Given the description of an element on the screen output the (x, y) to click on. 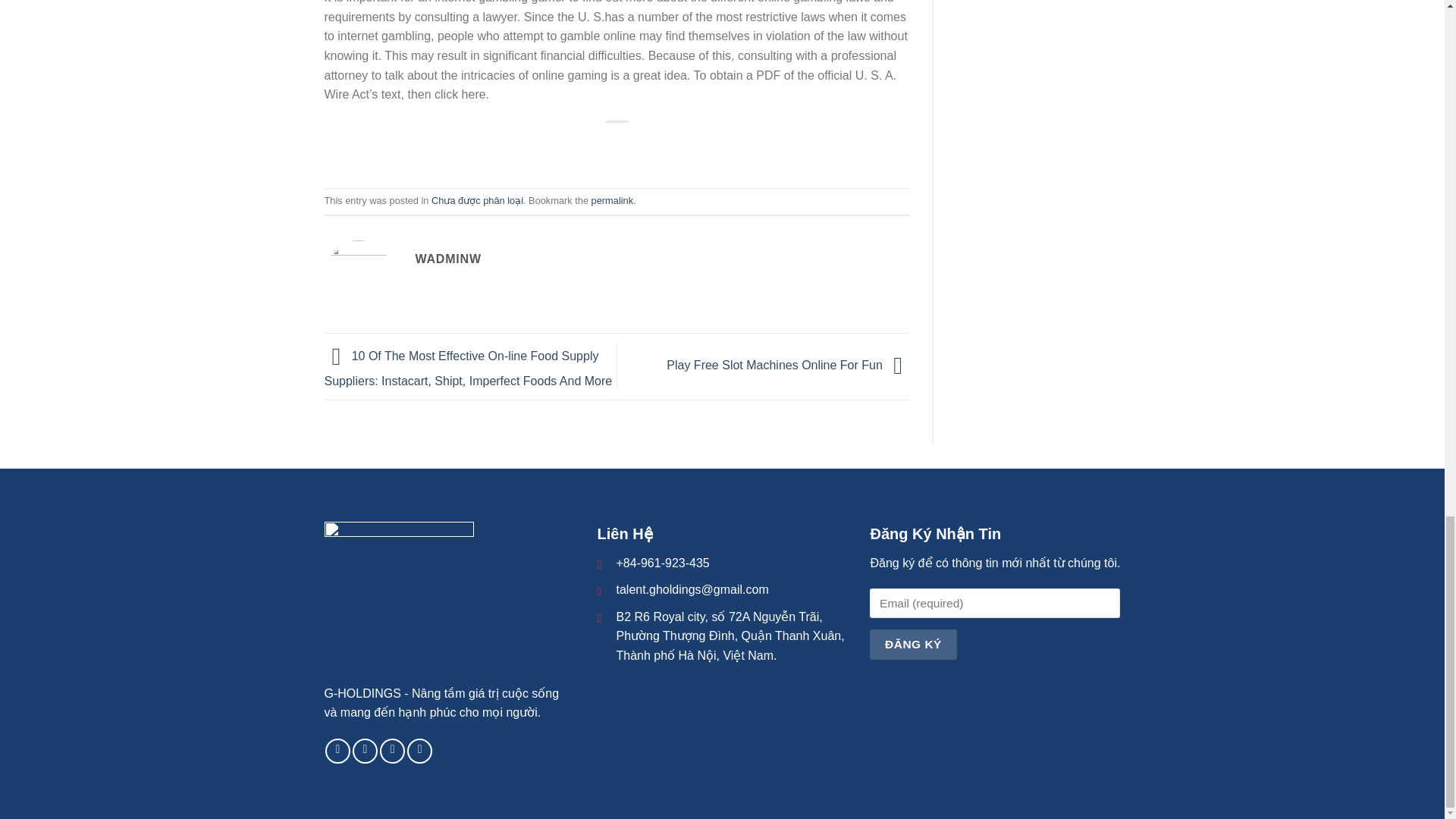
Pin on Pinterest (644, 147)
permalink (612, 200)
Follow on Facebook (337, 750)
Permalink to Online Gambling: Is It Legal?  (612, 200)
Share on LinkedIn (671, 147)
Follow on Twitter (419, 750)
Follow on TikTok (392, 750)
Email to a Friend (617, 147)
Play Free Slot Machines Online For Fun (788, 365)
